Given the description of an element on the screen output the (x, y) to click on. 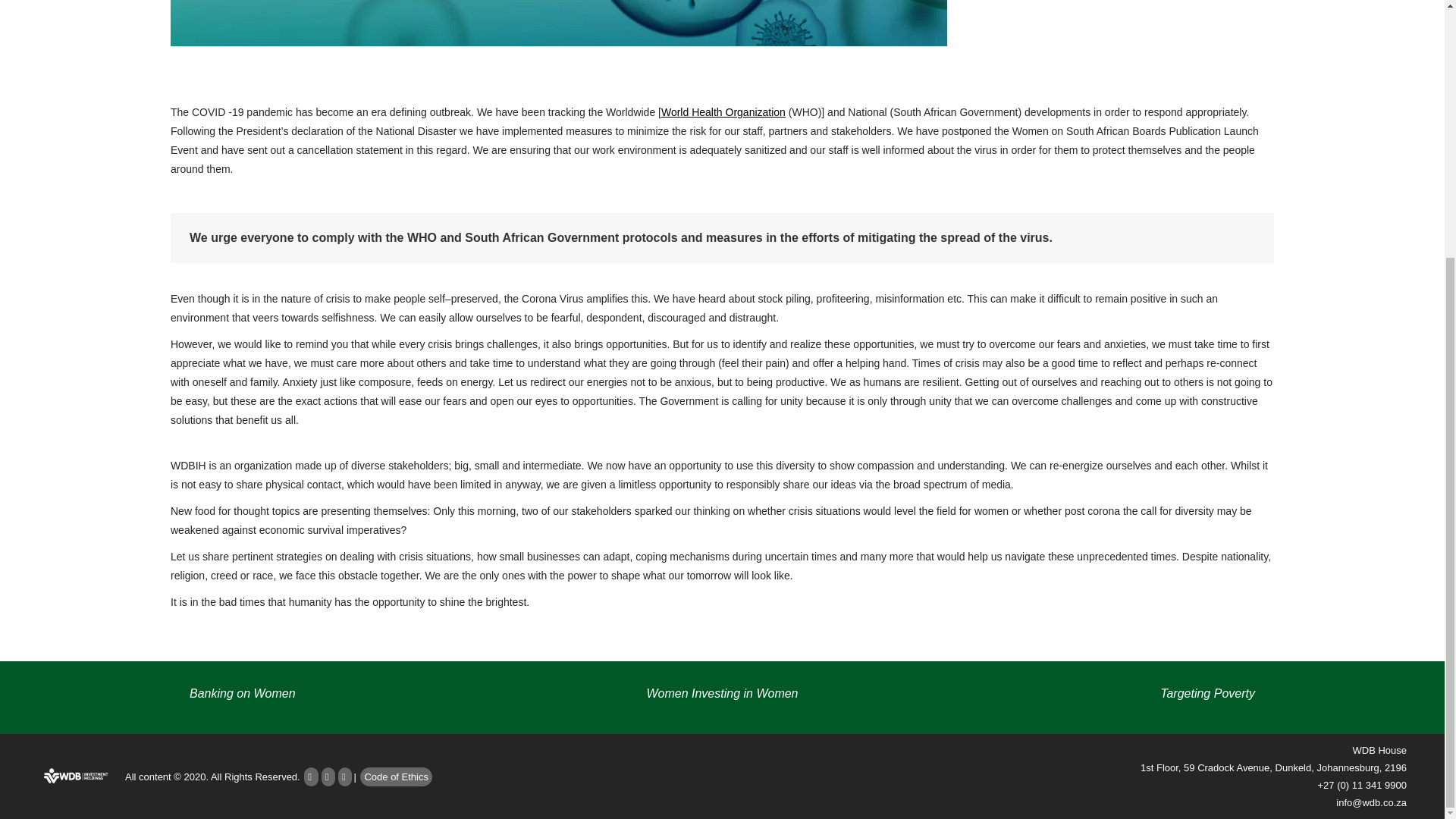
Code of Ethics (395, 775)
Corona Virus banner (558, 22)
Code of Ethics (395, 775)
World Health Organization (723, 111)
